Given the description of an element on the screen output the (x, y) to click on. 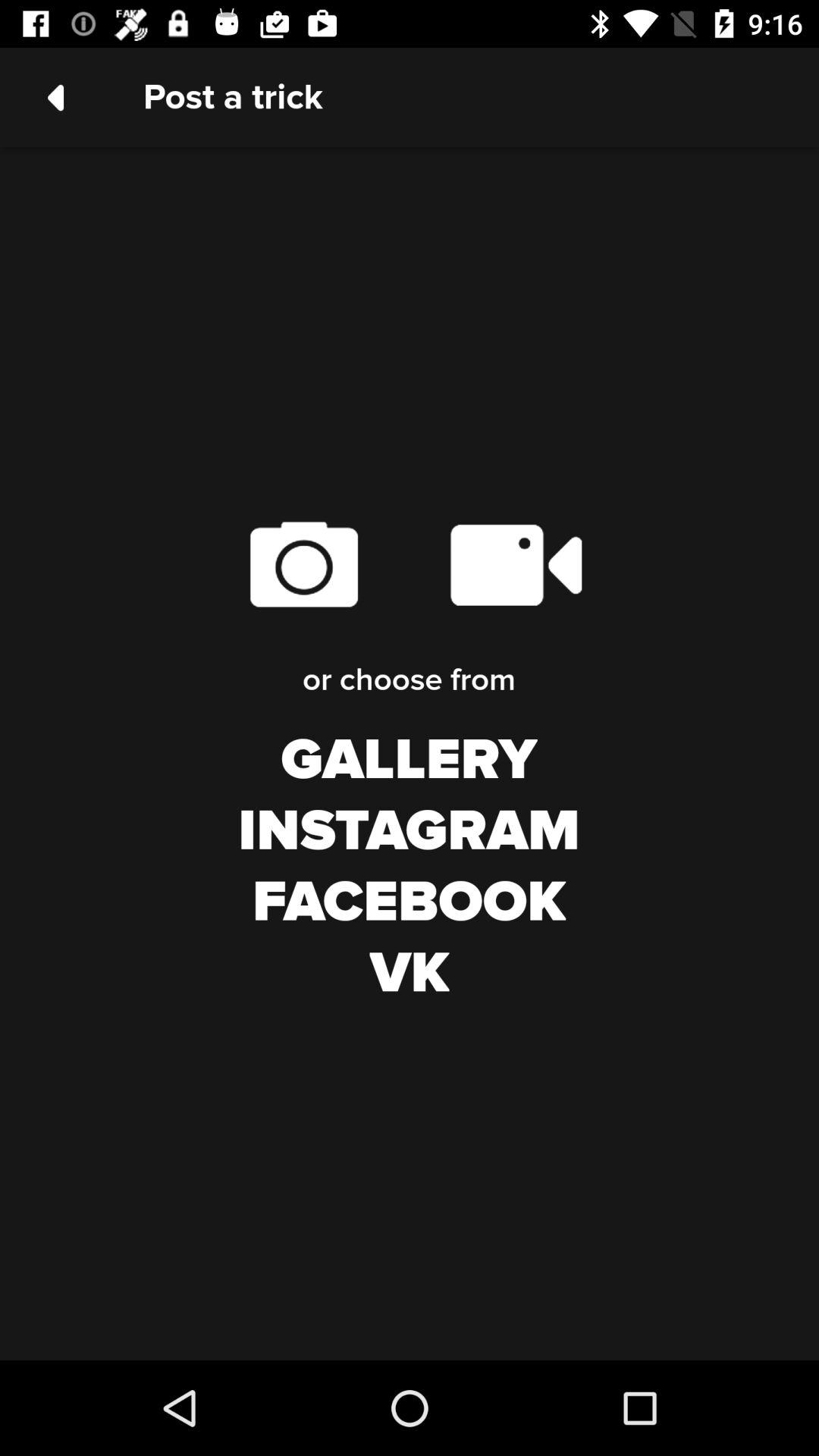
launch icon below the or choose from (408, 760)
